Given the description of an element on the screen output the (x, y) to click on. 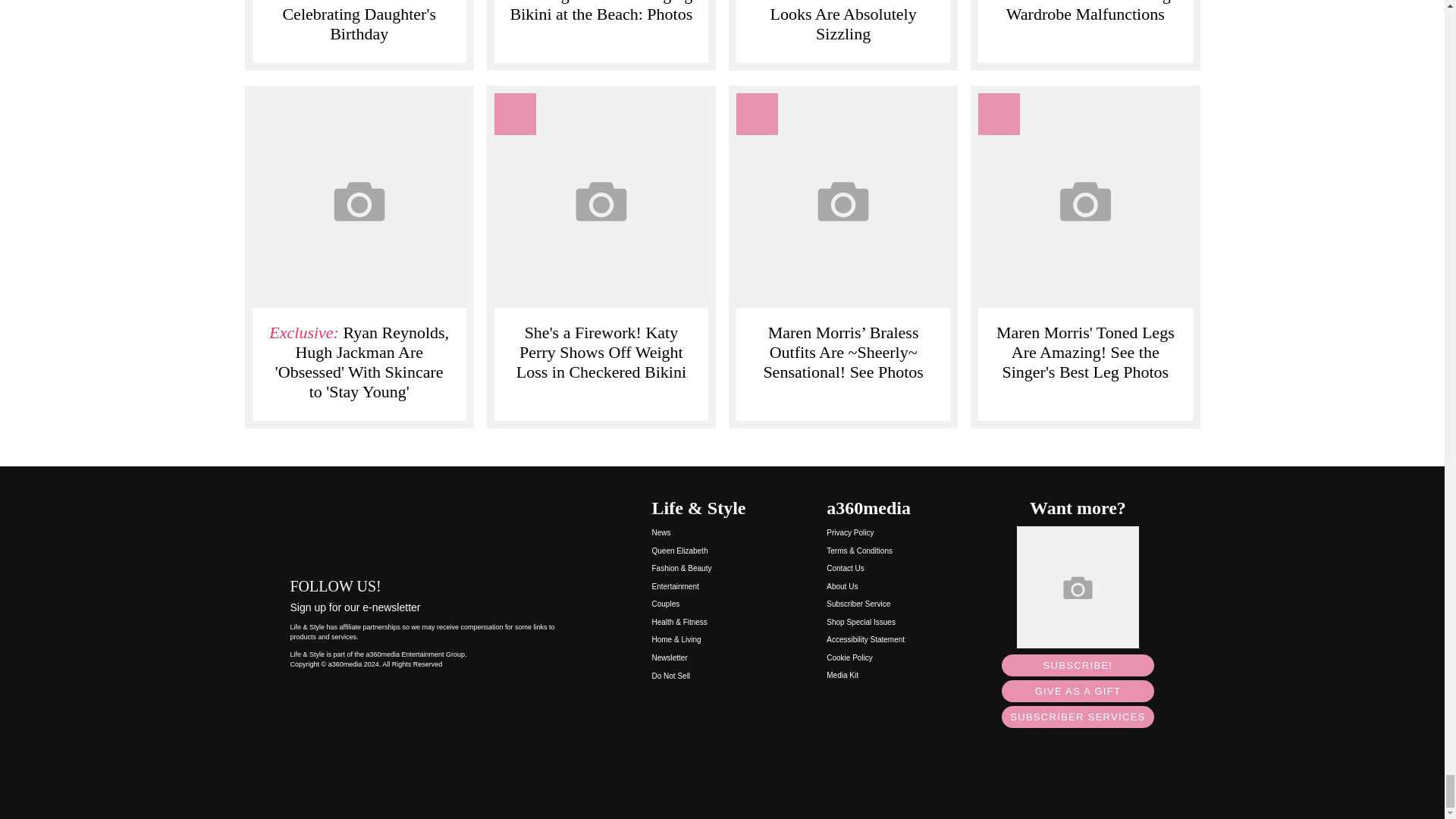
Home (434, 526)
